Given the description of an element on the screen output the (x, y) to click on. 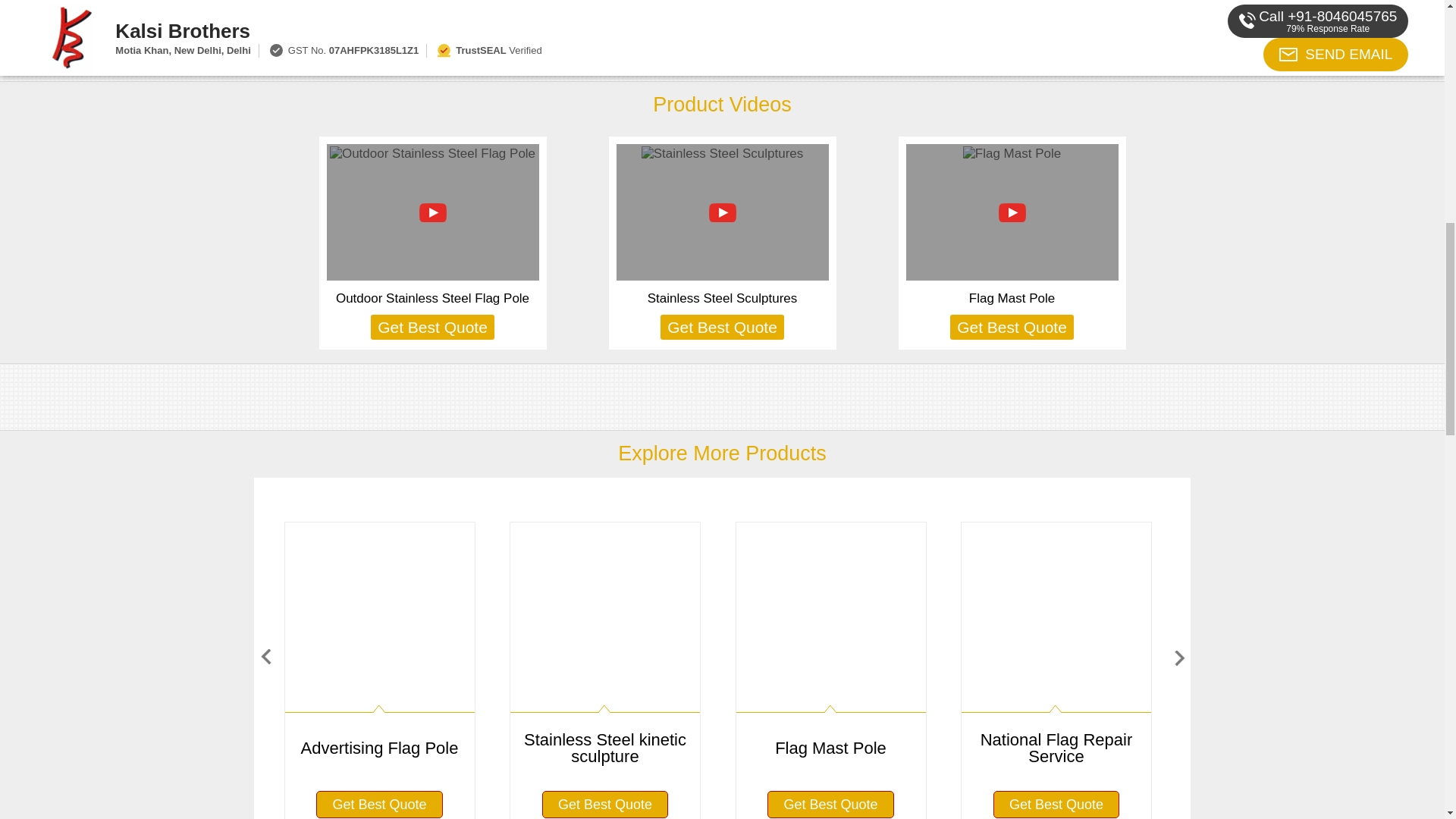
Outdoor Stainless Steel Flag Pole (432, 298)
Flag Mast Pole (1011, 298)
Stainless Steel Sculptures (722, 298)
